Given the description of an element on the screen output the (x, y) to click on. 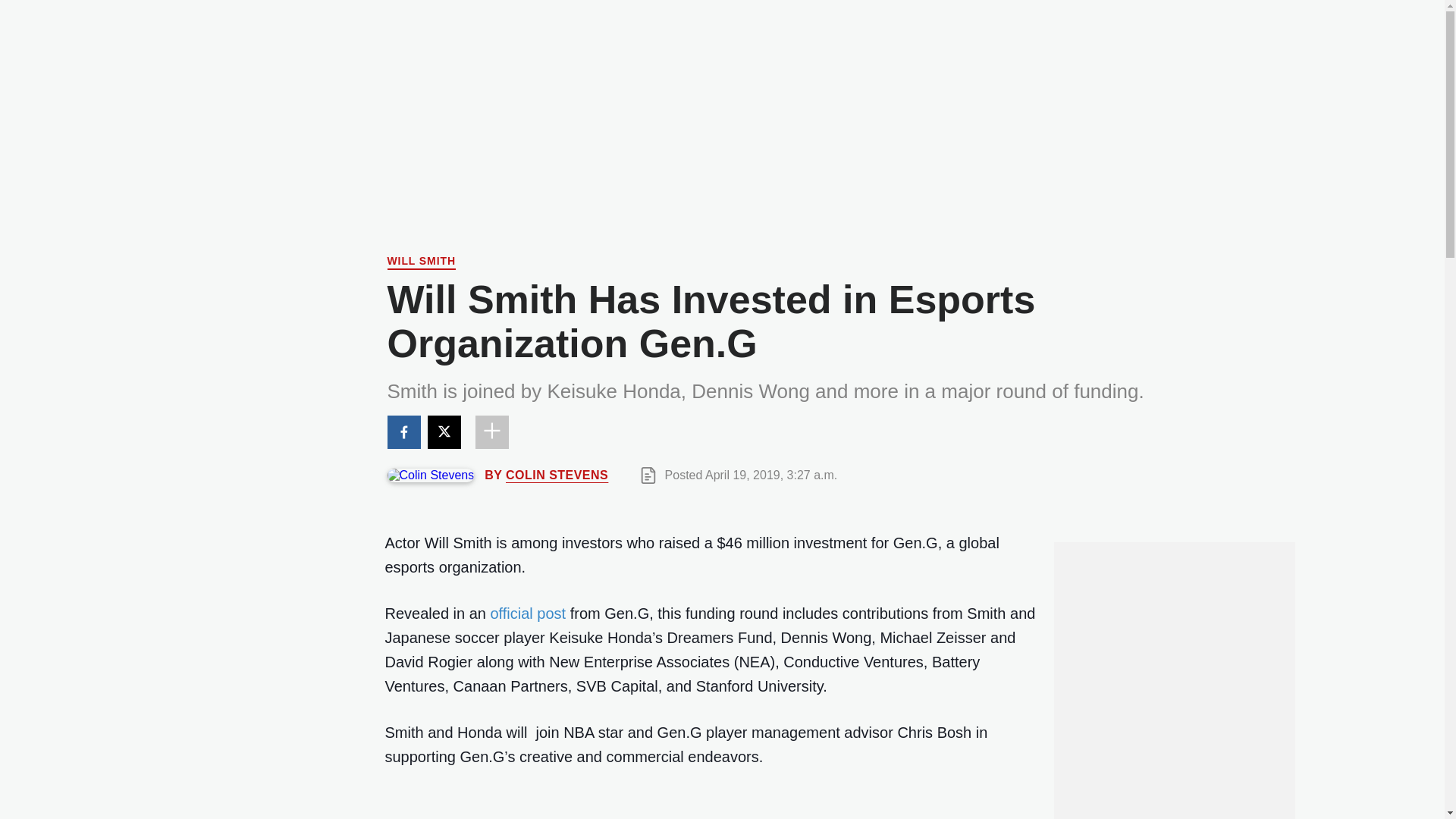
Will Smith (420, 262)
official post (527, 613)
COLIN STEVENS (556, 474)
WILL SMITH (420, 262)
